Given the description of an element on the screen output the (x, y) to click on. 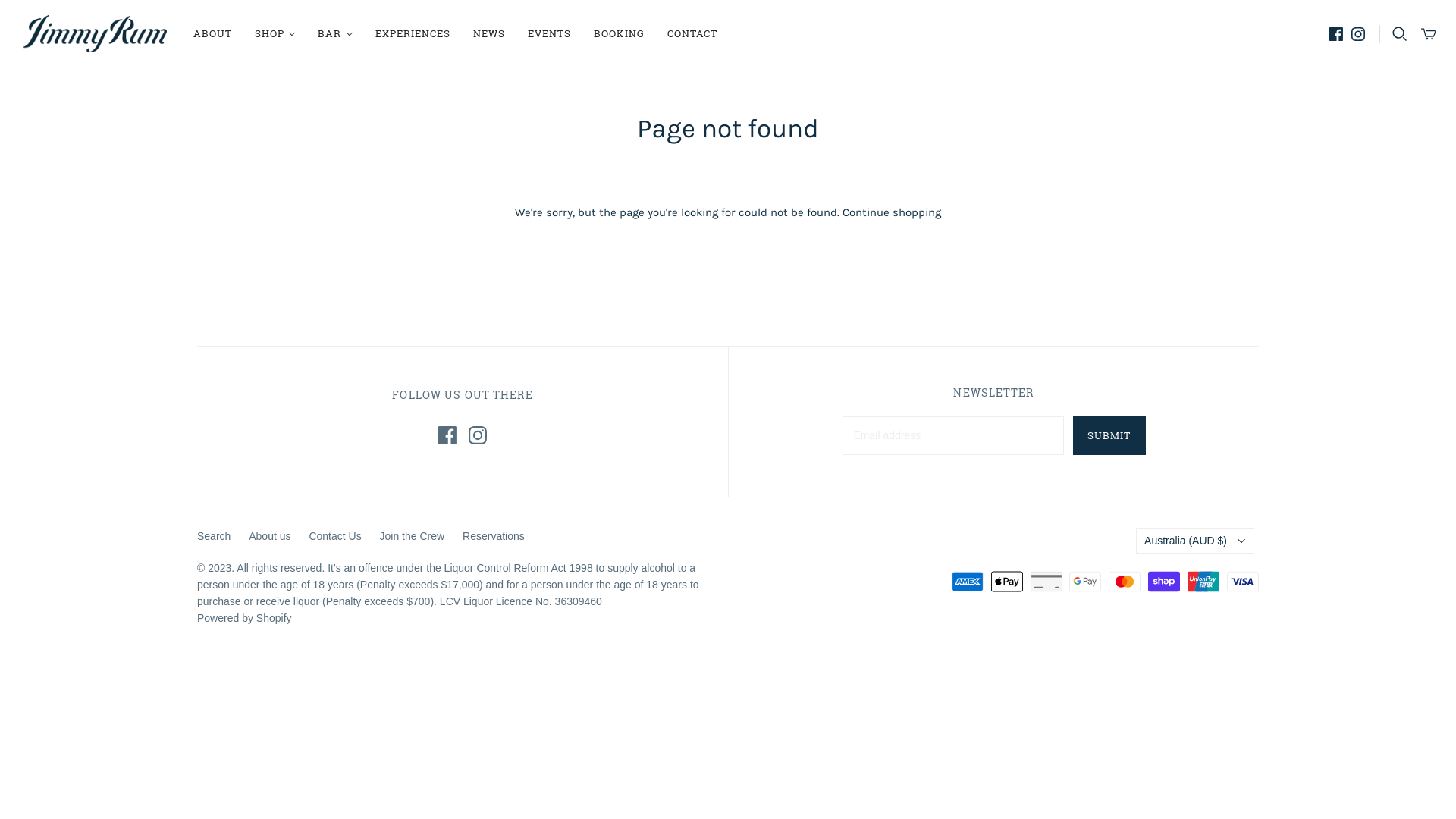
Submit Element type: text (1109, 435)
EXPERIENCES Element type: text (412, 33)
Search Element type: text (213, 536)
Reservations Element type: text (493, 536)
BOOKING Element type: text (618, 33)
Contact Us Element type: text (334, 536)
Join the Crew Element type: text (412, 536)
Australia (AUD $) Element type: text (1194, 540)
EVENTS Element type: text (549, 33)
NEWS Element type: text (488, 33)
About us Element type: text (269, 536)
Continue shopping Element type: text (891, 212)
ABOUT Element type: text (212, 33)
Powered by Shopify Element type: text (244, 617)
CONTACT Element type: text (691, 33)
